Given the description of an element on the screen output the (x, y) to click on. 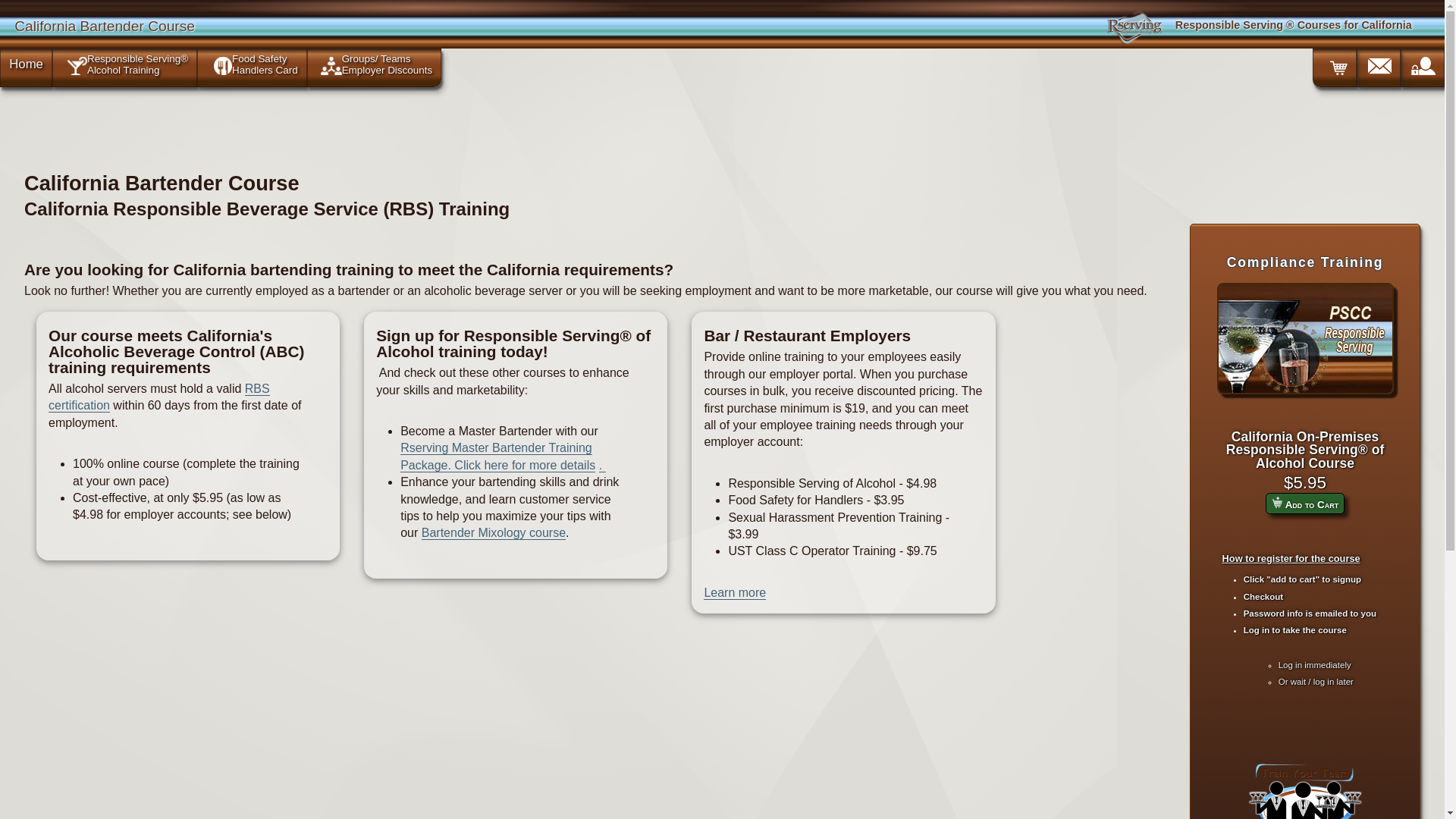
Home (25, 63)
Bartender Mixology course (494, 532)
Add to Cart (1304, 503)
Train your team - click for team discounts (1304, 789)
Learn more (734, 592)
Add to Cart (1276, 501)
RBS certification (158, 397)
